Given the description of an element on the screen output the (x, y) to click on. 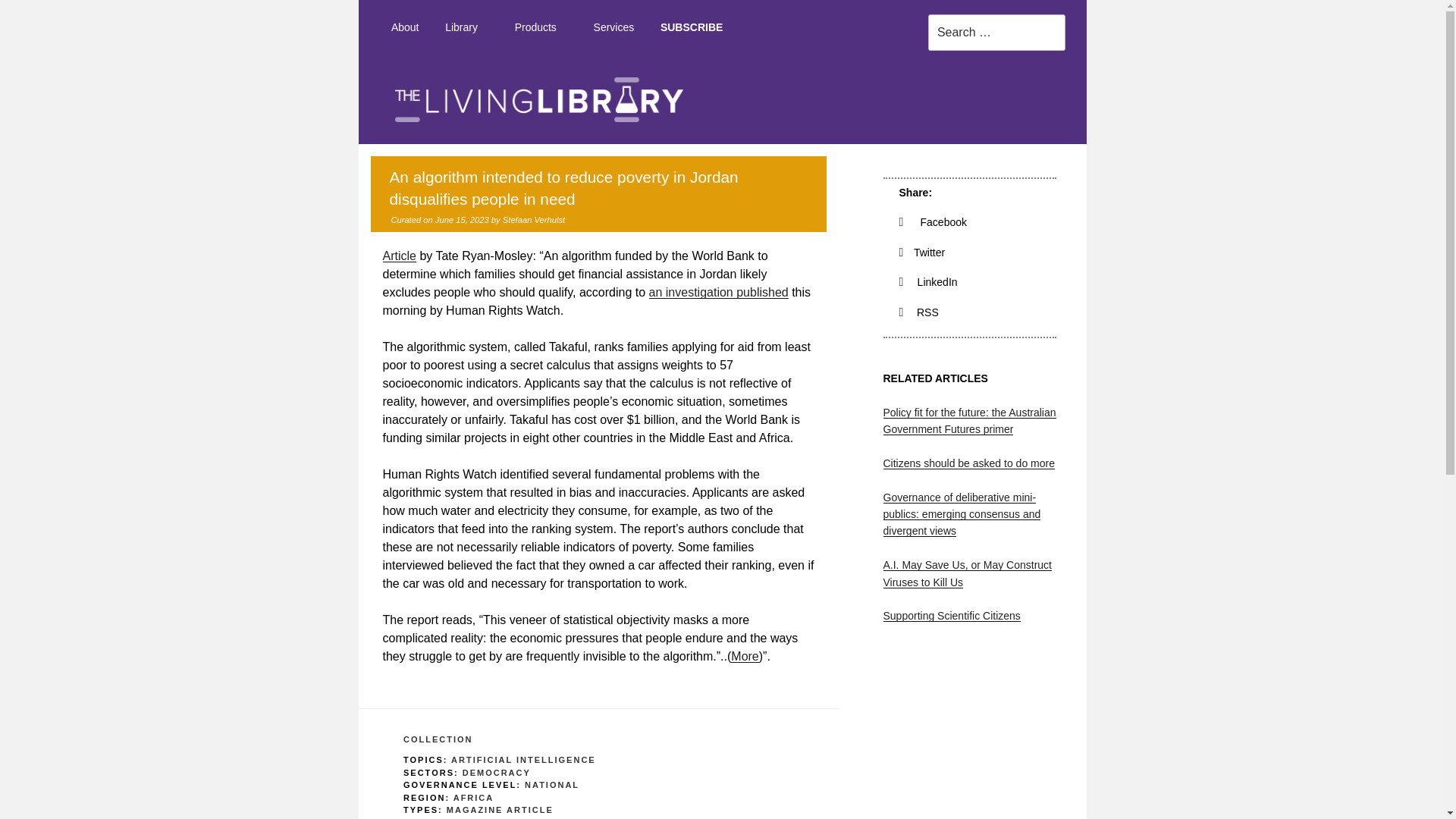
SUBSCRIBE (692, 27)
Library (466, 27)
June 15, 2023 (462, 219)
About (403, 27)
  Facebook (933, 222)
RSS (919, 312)
Article (397, 255)
AFRICA (473, 797)
THE LIVING LIBRARY (1117, 158)
an investigation published (719, 291)
